Given the description of an element on the screen output the (x, y) to click on. 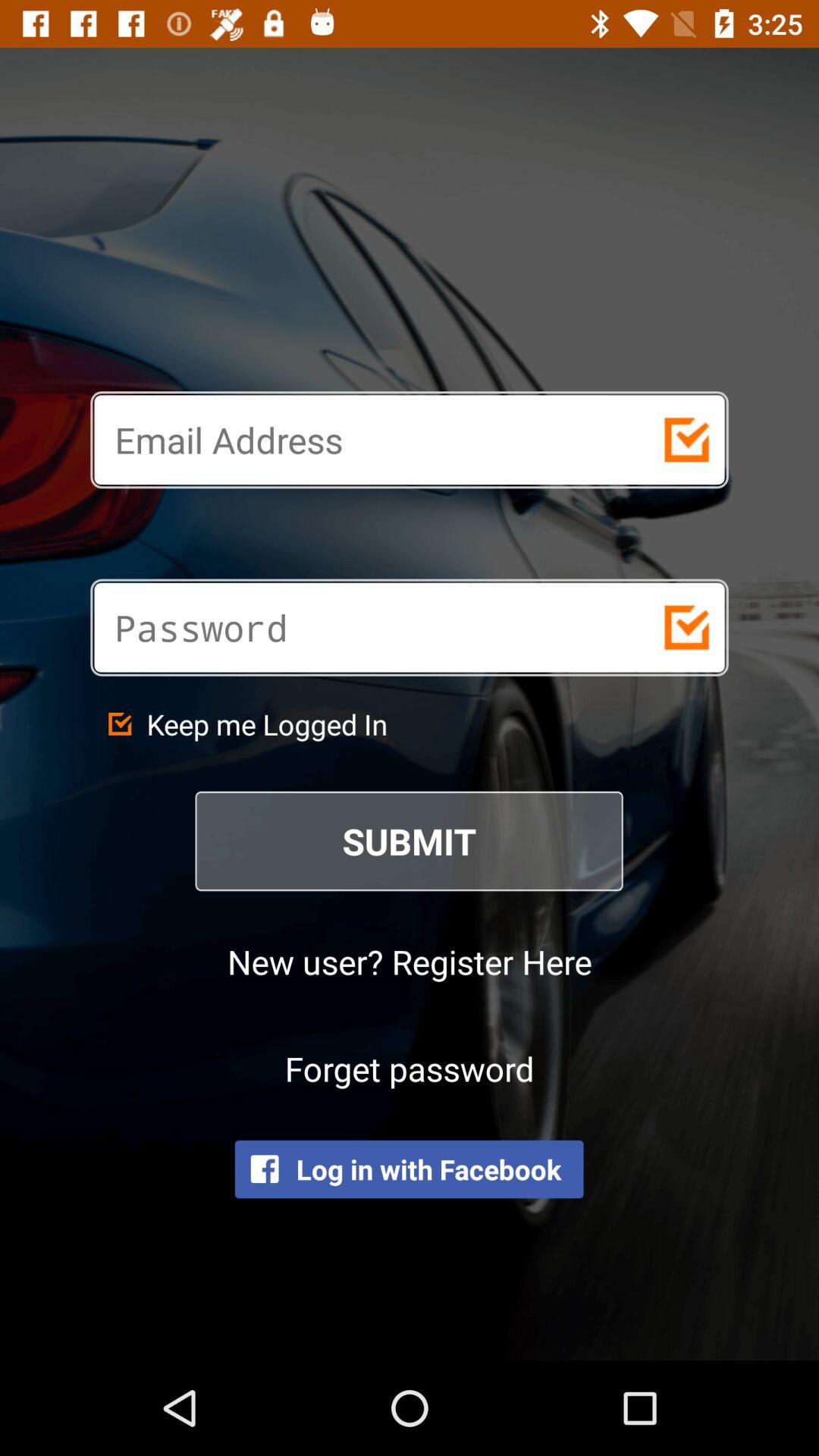
turn on forget password icon (409, 1068)
